Given the description of an element on the screen output the (x, y) to click on. 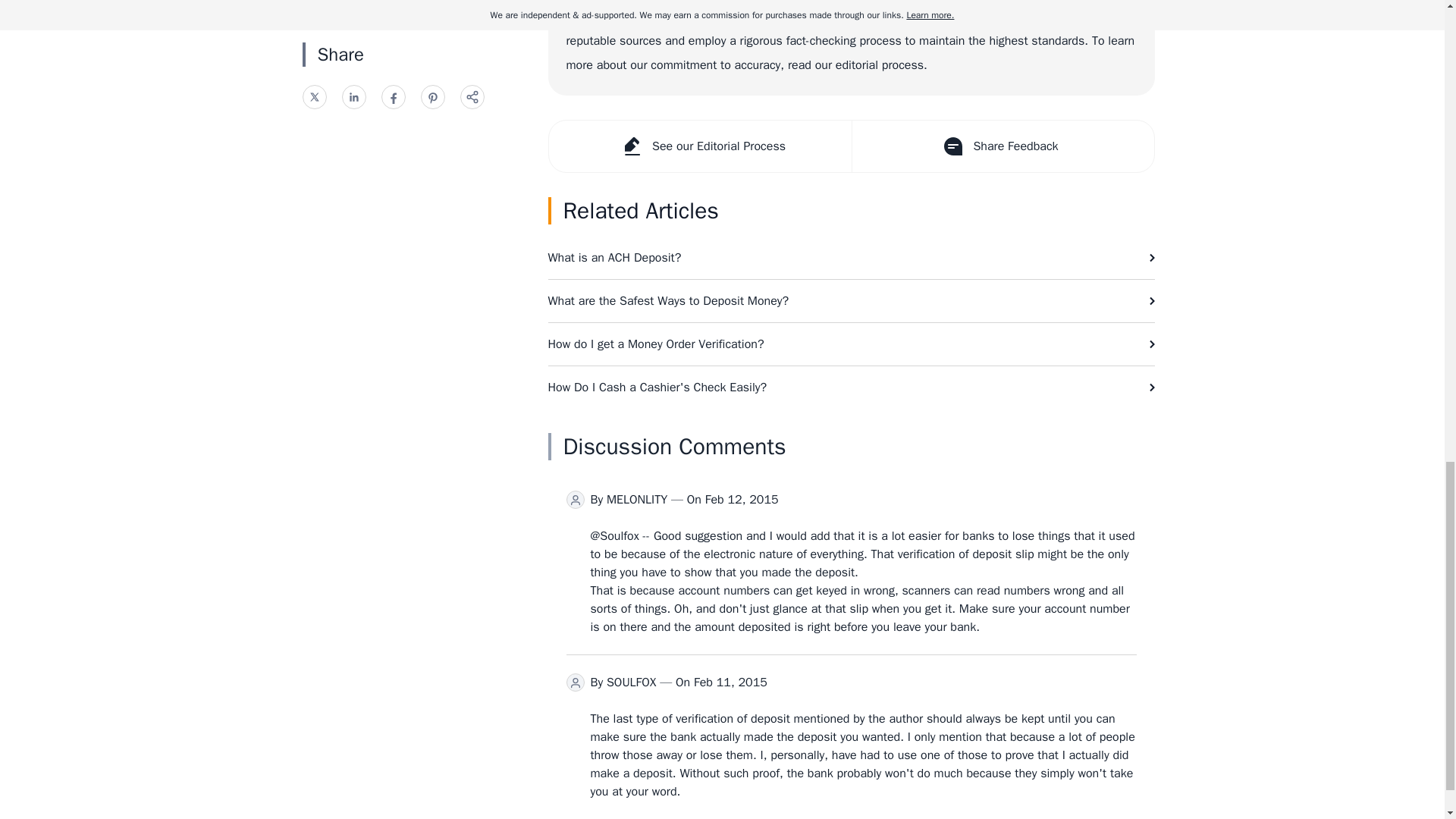
Share Feedback (1001, 145)
How do I get a Money Order Verification? (850, 343)
What is an ACH Deposit? (850, 257)
What are the Safest Ways to Deposit Money? (850, 301)
How Do I Cash a Cashier's Check Easily? (850, 387)
See our Editorial Process (699, 145)
